Given the description of an element on the screen output the (x, y) to click on. 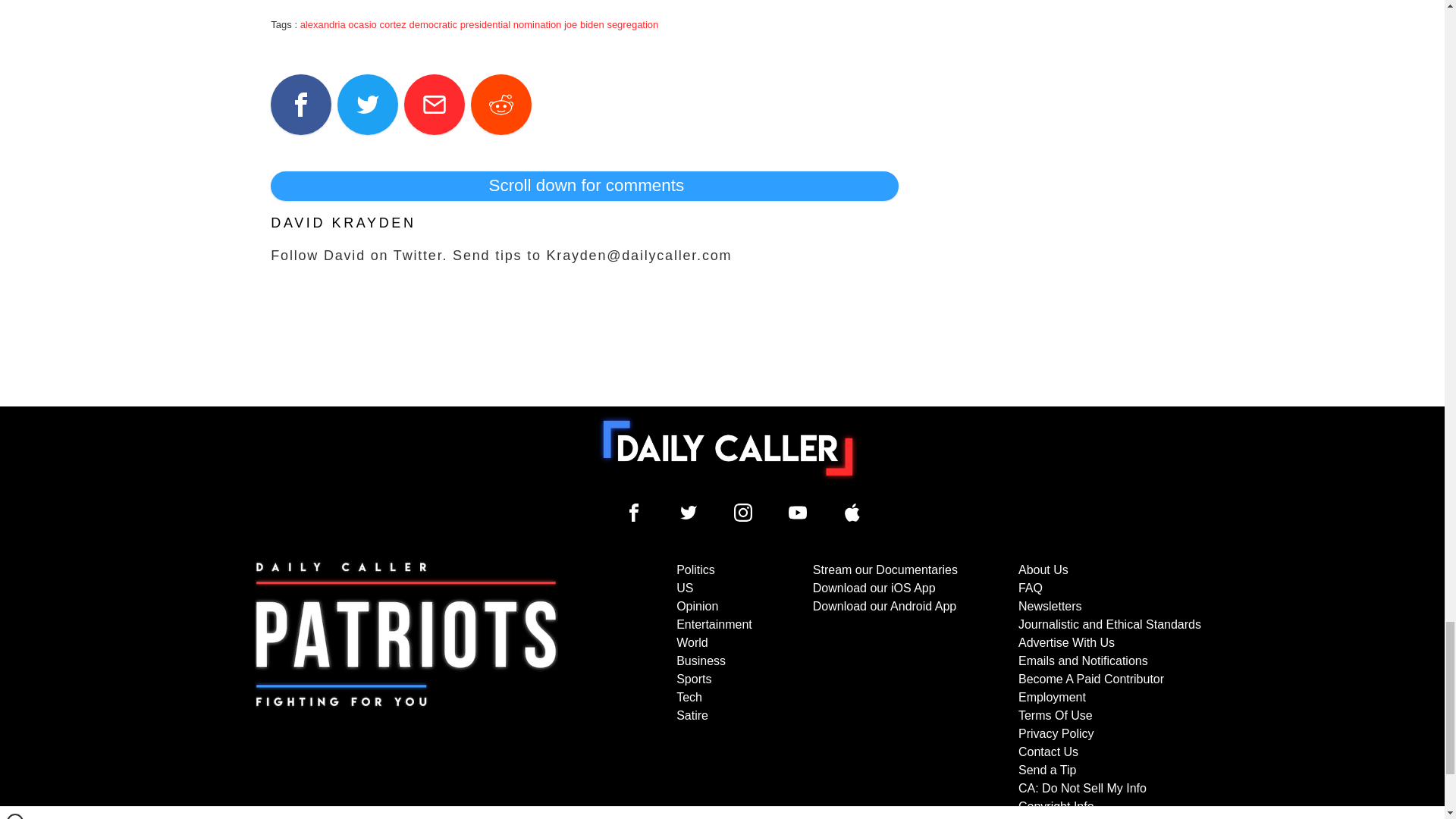
Daily Caller Twitter (688, 512)
Subscribe to The Daily Caller (405, 688)
Daily Caller YouTube (852, 512)
Daily Caller Facebook (633, 512)
To home page (727, 448)
Daily Caller YouTube (797, 512)
Daily Caller Instagram (742, 512)
Scroll down for comments (584, 185)
